Given the description of an element on the screen output the (x, y) to click on. 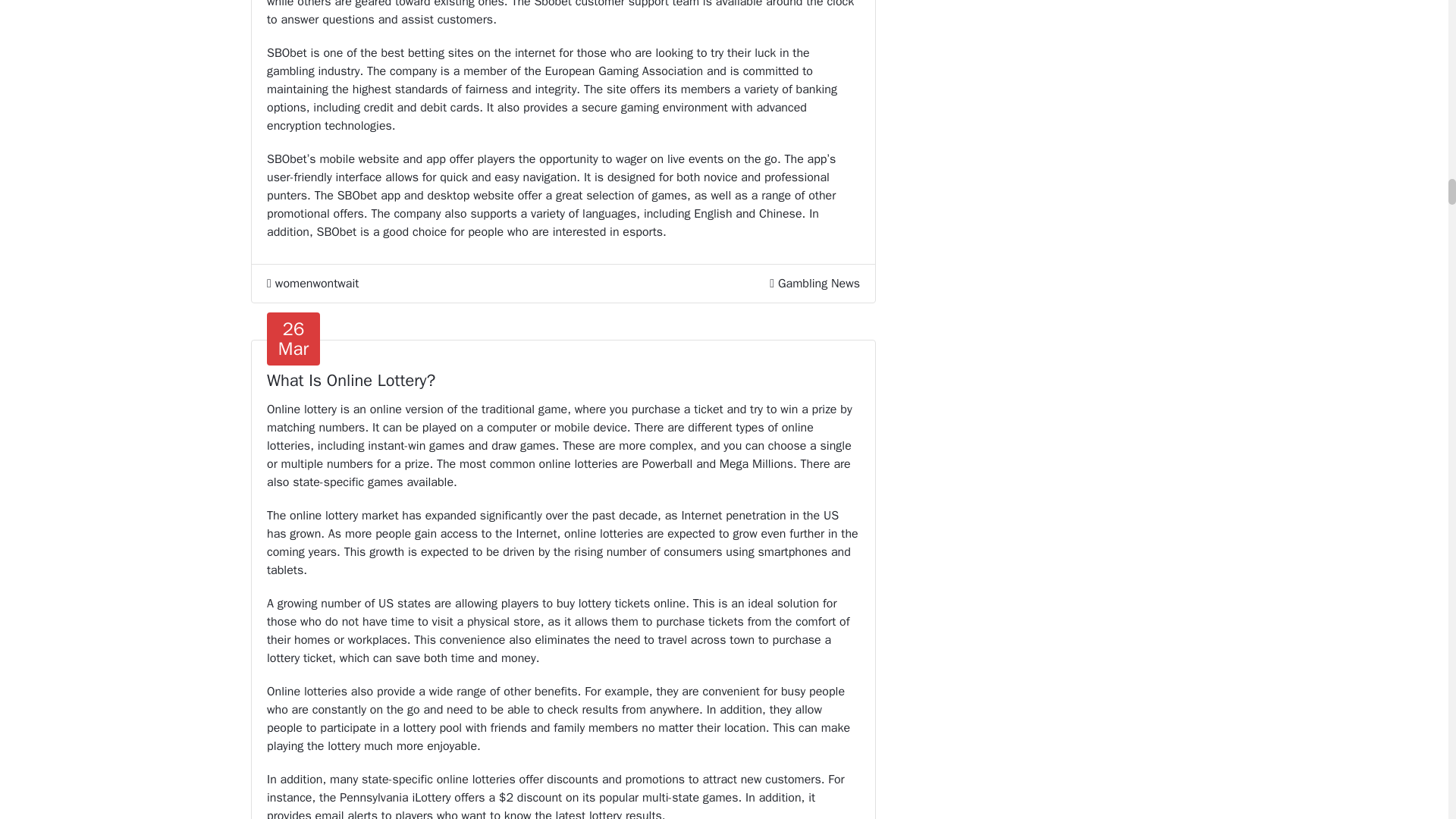
Gambling News (818, 283)
womenwontwait (312, 283)
womenwontwait (312, 283)
